Given the description of an element on the screen output the (x, y) to click on. 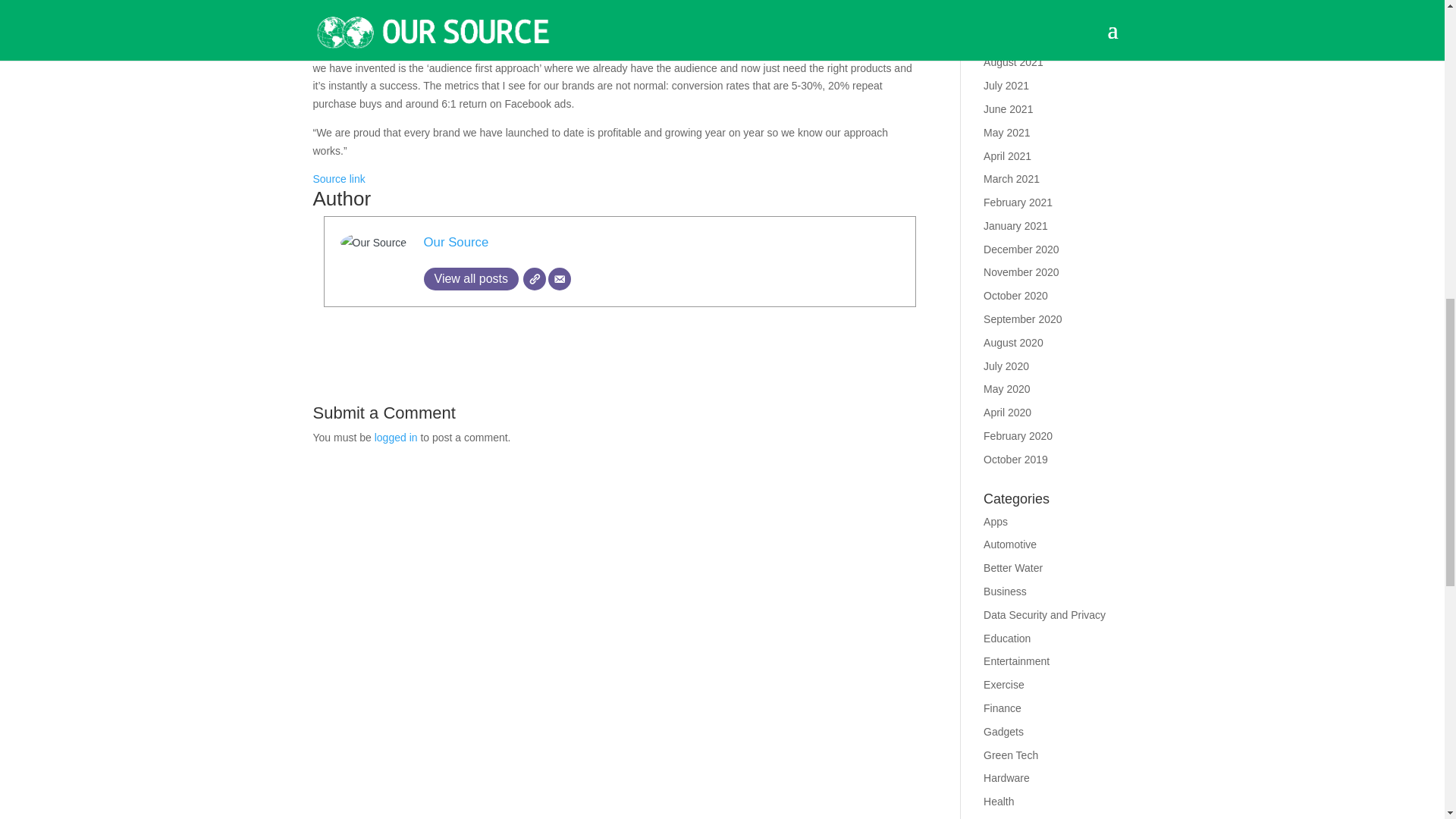
Source link (339, 178)
logged in (395, 437)
View all posts (470, 278)
Our Source (455, 242)
View all posts (470, 278)
Our Source (455, 242)
